Given the description of an element on the screen output the (x, y) to click on. 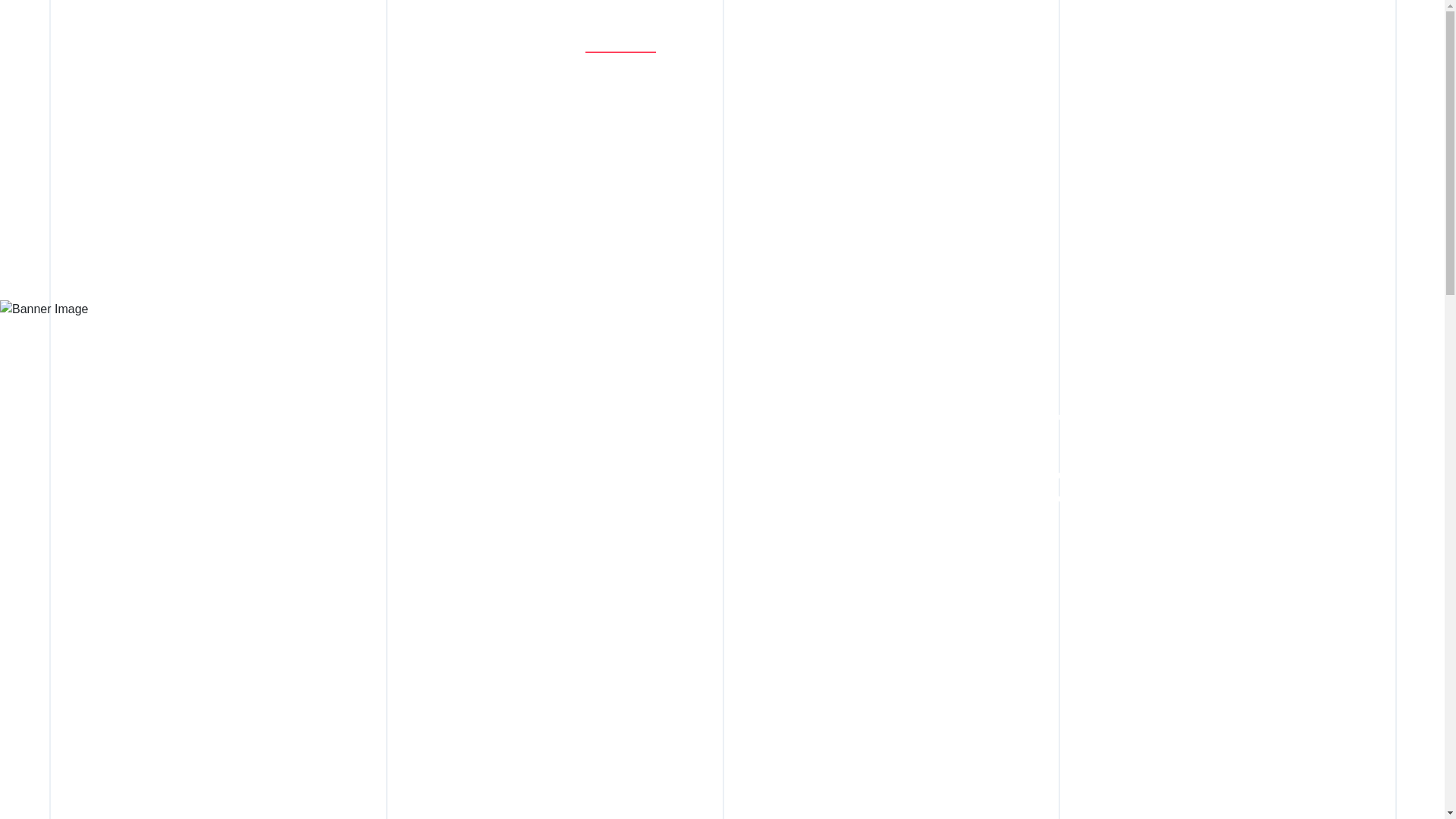
EN Element type: text (1419, 40)
ABOUT COMPANY Element type: text (644, 45)
OUR SERVICES Element type: text (807, 45)
